Given the description of an element on the screen output the (x, y) to click on. 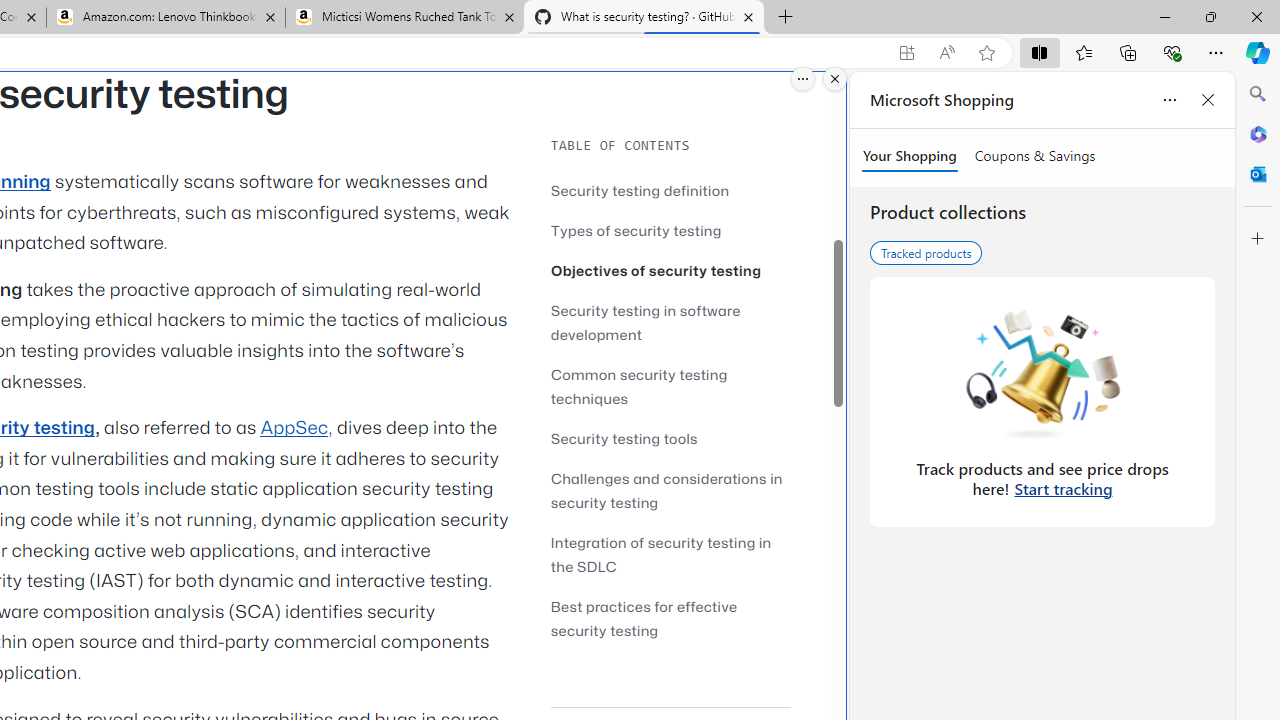
Security testing tools (670, 438)
Integration of security testing in the SDLC (660, 554)
Integration of security testing in the SDLC (670, 553)
Challenges and considerations in security testing (670, 489)
Objectives of security testing (655, 270)
Security testing in software development (645, 321)
Challenges and considerations in security testing (666, 490)
